Given the description of an element on the screen output the (x, y) to click on. 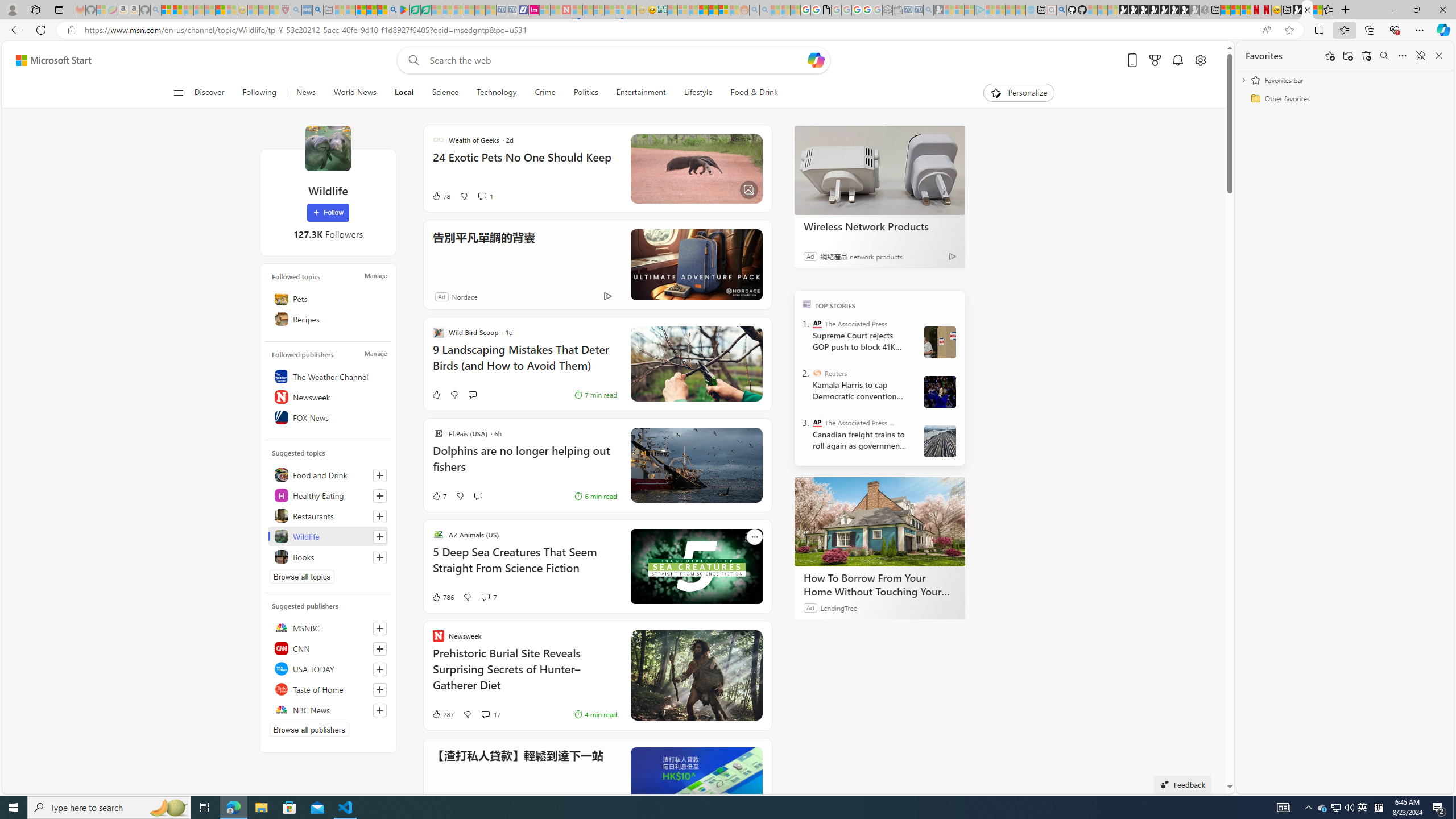
LendingTree (838, 607)
Recipes (327, 318)
Follow (328, 212)
Healthy Eating (327, 495)
